Given the description of an element on the screen output the (x, y) to click on. 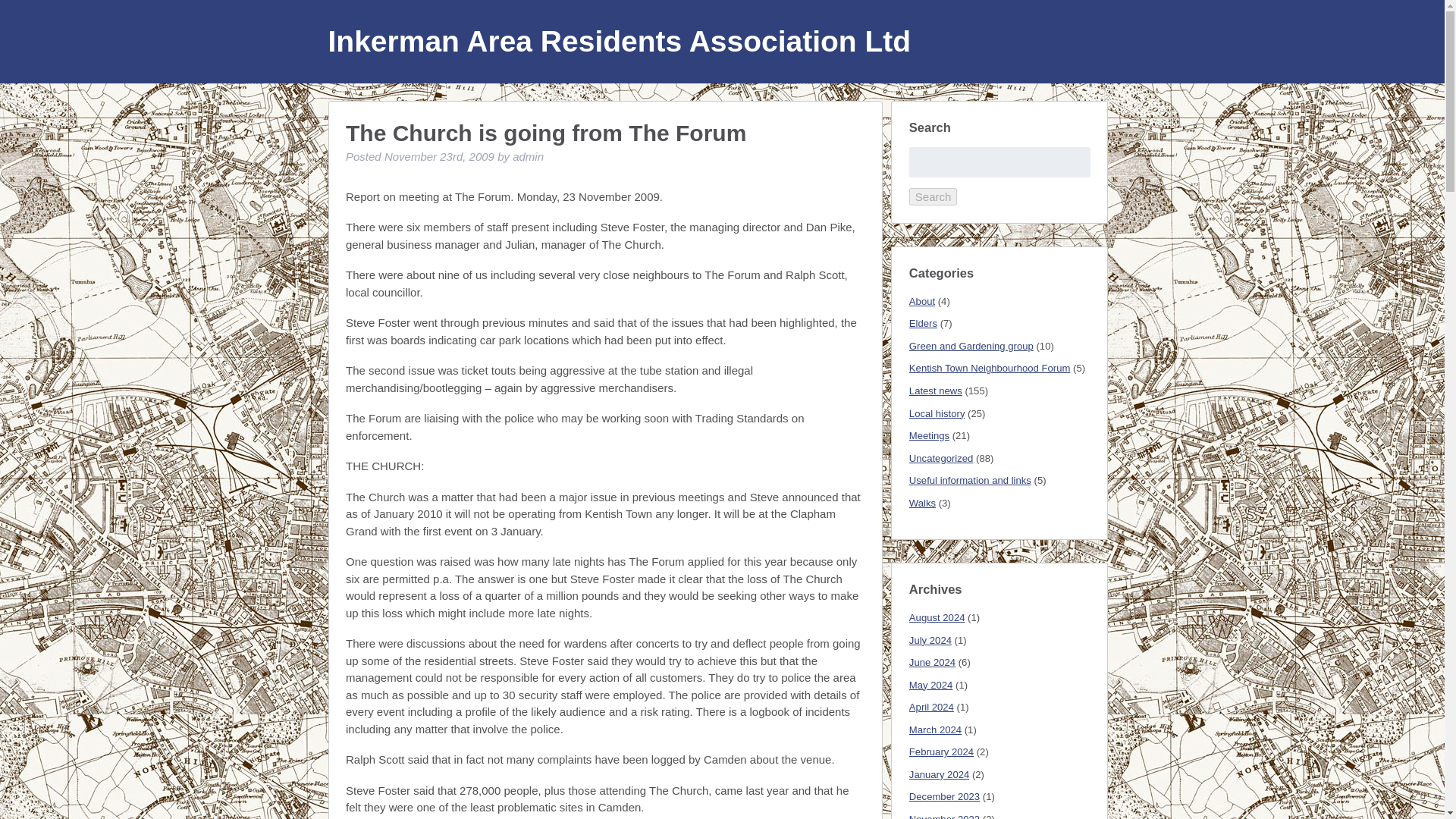
Inkerman Area Residents Association Ltd (619, 41)
June 2024 (931, 662)
Meetings (928, 435)
Useful information and links (969, 480)
January 2024 (938, 774)
December 2023 (943, 796)
Green and Gardening group (970, 346)
Uncategorized (941, 458)
February 2024 (941, 751)
Walks (922, 502)
